Given the description of an element on the screen output the (x, y) to click on. 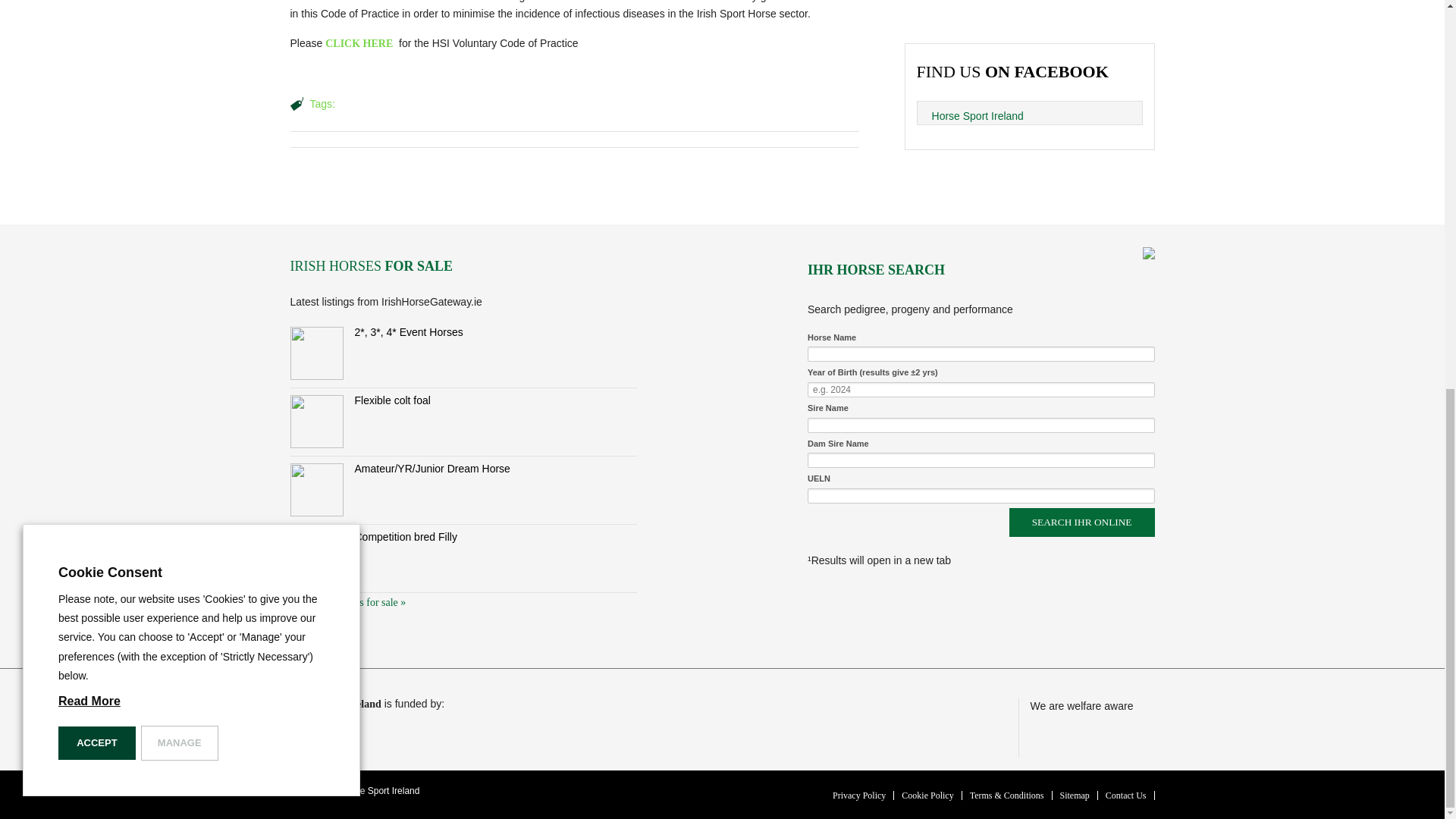
Search IHR Online (1081, 522)
